Given the description of an element on the screen output the (x, y) to click on. 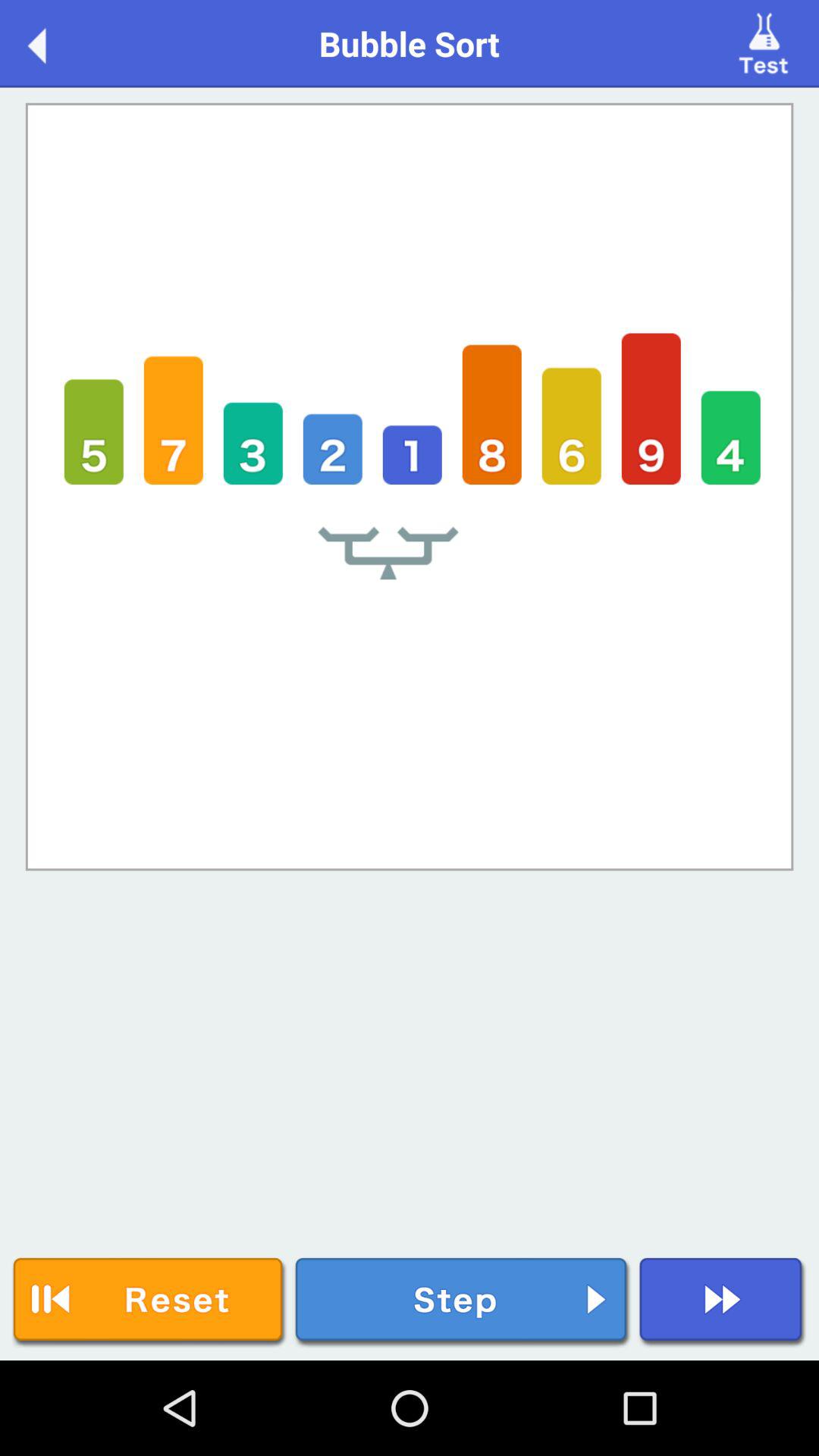
go to the next step (462, 1302)
